Given the description of an element on the screen output the (x, y) to click on. 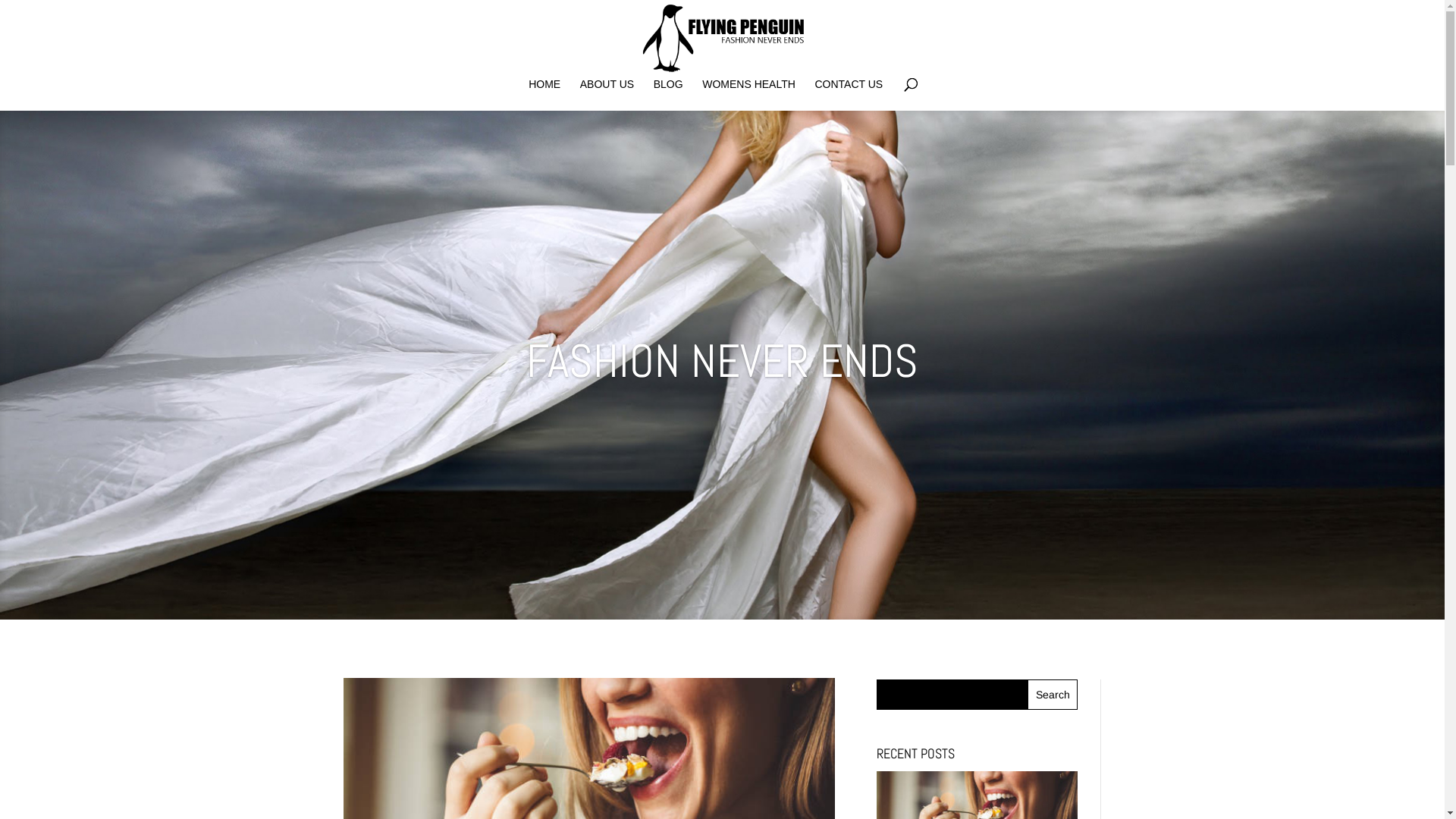
Search Element type: text (1052, 694)
HOME Element type: text (544, 94)
CONTACT US Element type: text (848, 94)
BLOG Element type: text (668, 94)
ABOUT US Element type: text (606, 94)
WOMENS HEALTH Element type: text (748, 94)
